Given the description of an element on the screen output the (x, y) to click on. 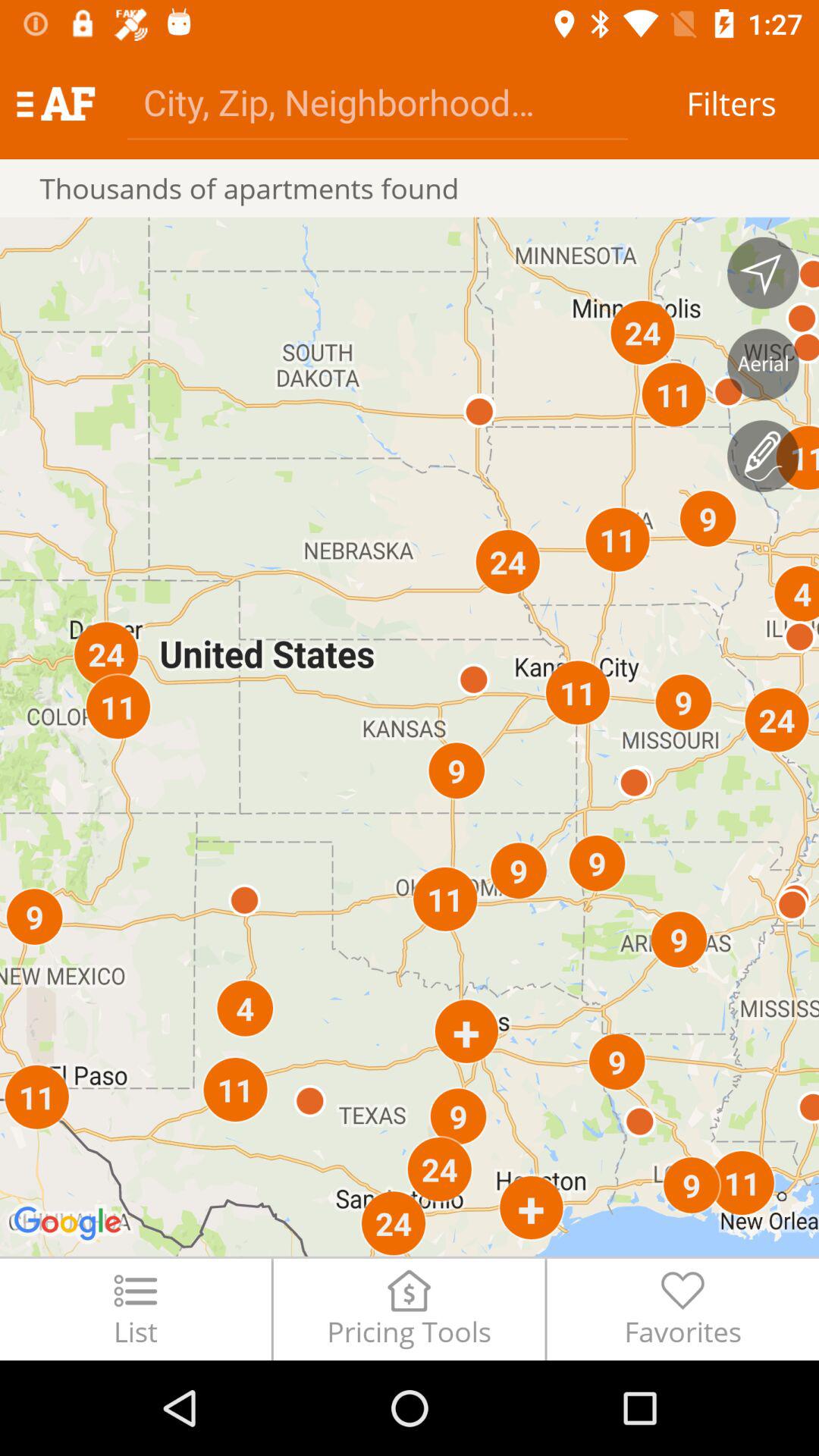
turn off favorites at the bottom right corner (683, 1309)
